Given the description of an element on the screen output the (x, y) to click on. 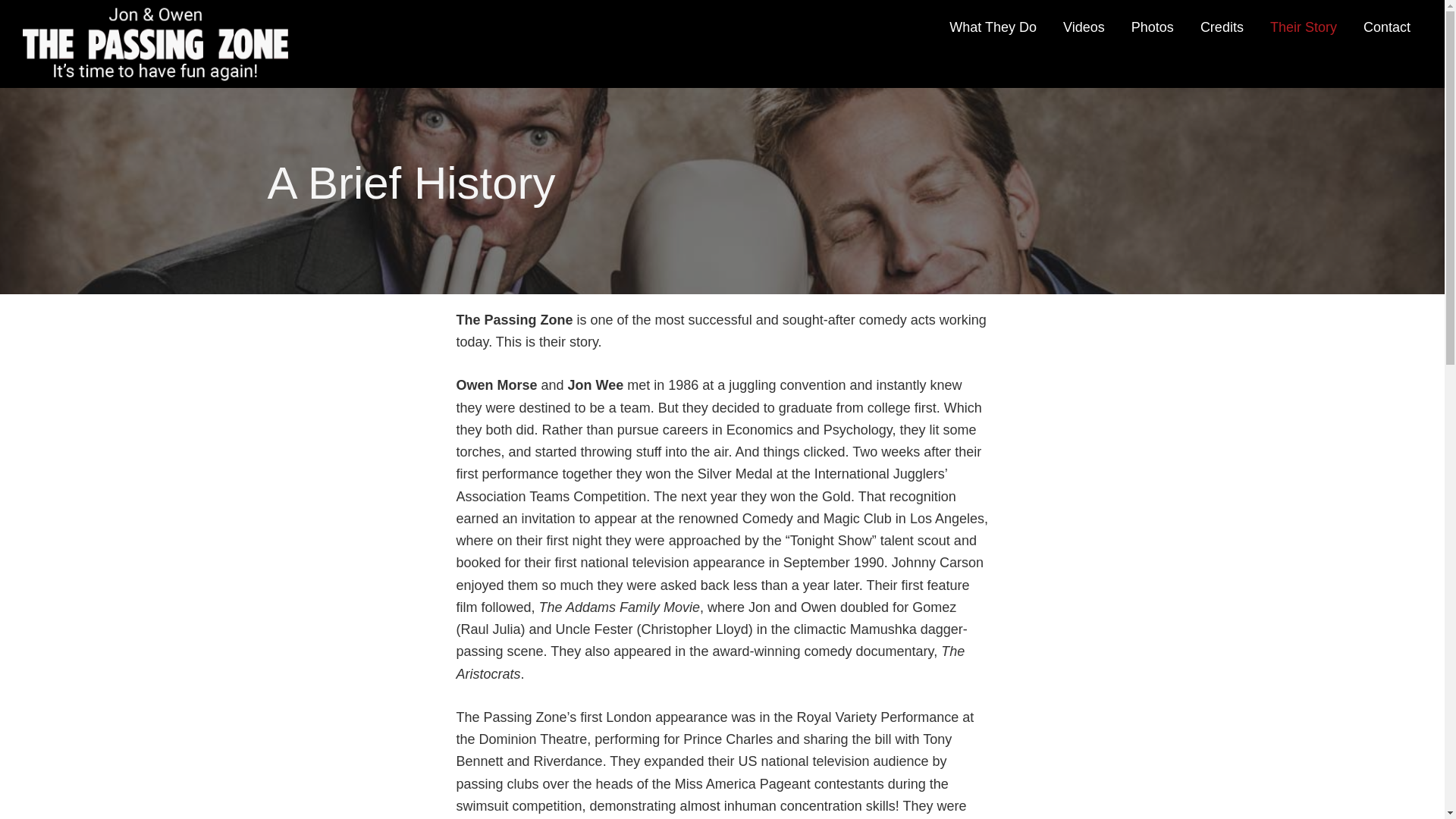
Their Story (1303, 27)
Contact (1387, 27)
Videos (1083, 27)
Photos (1152, 27)
Credits (1222, 27)
What They Do (992, 27)
